Given the description of an element on the screen output the (x, y) to click on. 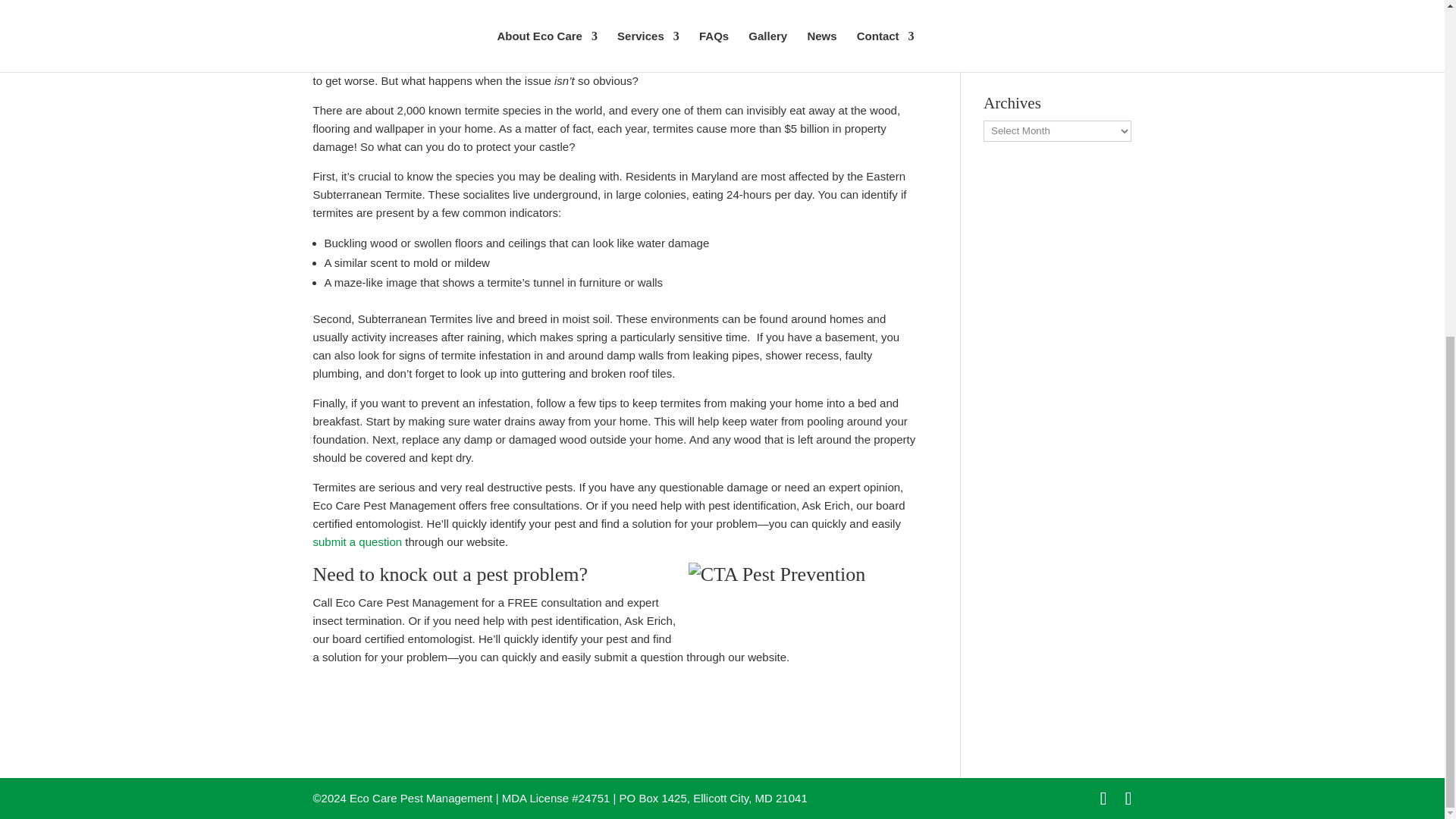
Spooky Pests: Unmasking the Real Critters of Halloween (1050, 42)
submit a question (357, 541)
Preparing Your Home for Winter Pests (1046, 3)
